Given the description of an element on the screen output the (x, y) to click on. 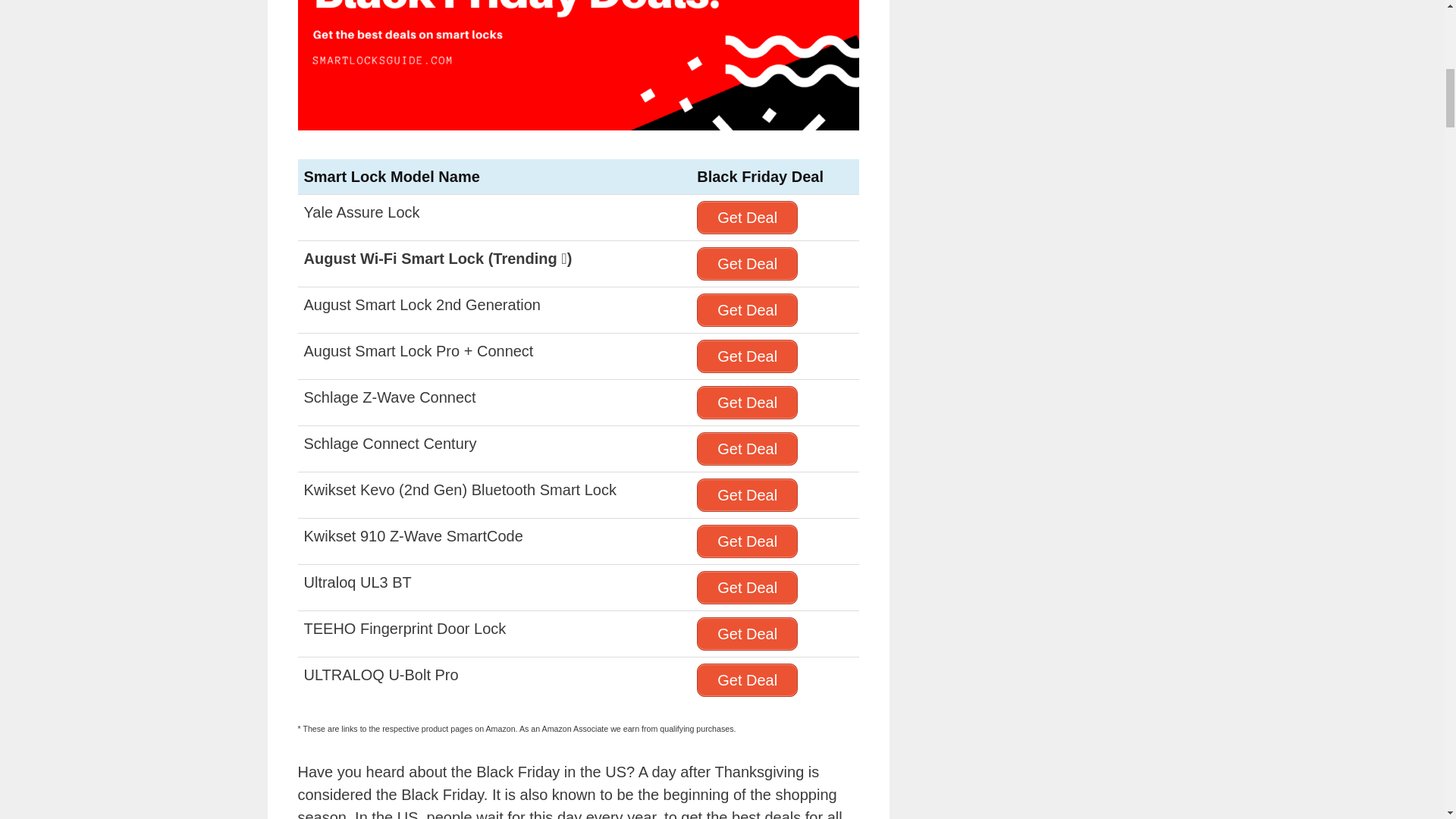
Get Deal (747, 263)
Get Deal (747, 309)
Get Deal (747, 217)
Get Deal (747, 402)
Get Deal (747, 449)
Get Deal (747, 356)
